Given the description of an element on the screen output the (x, y) to click on. 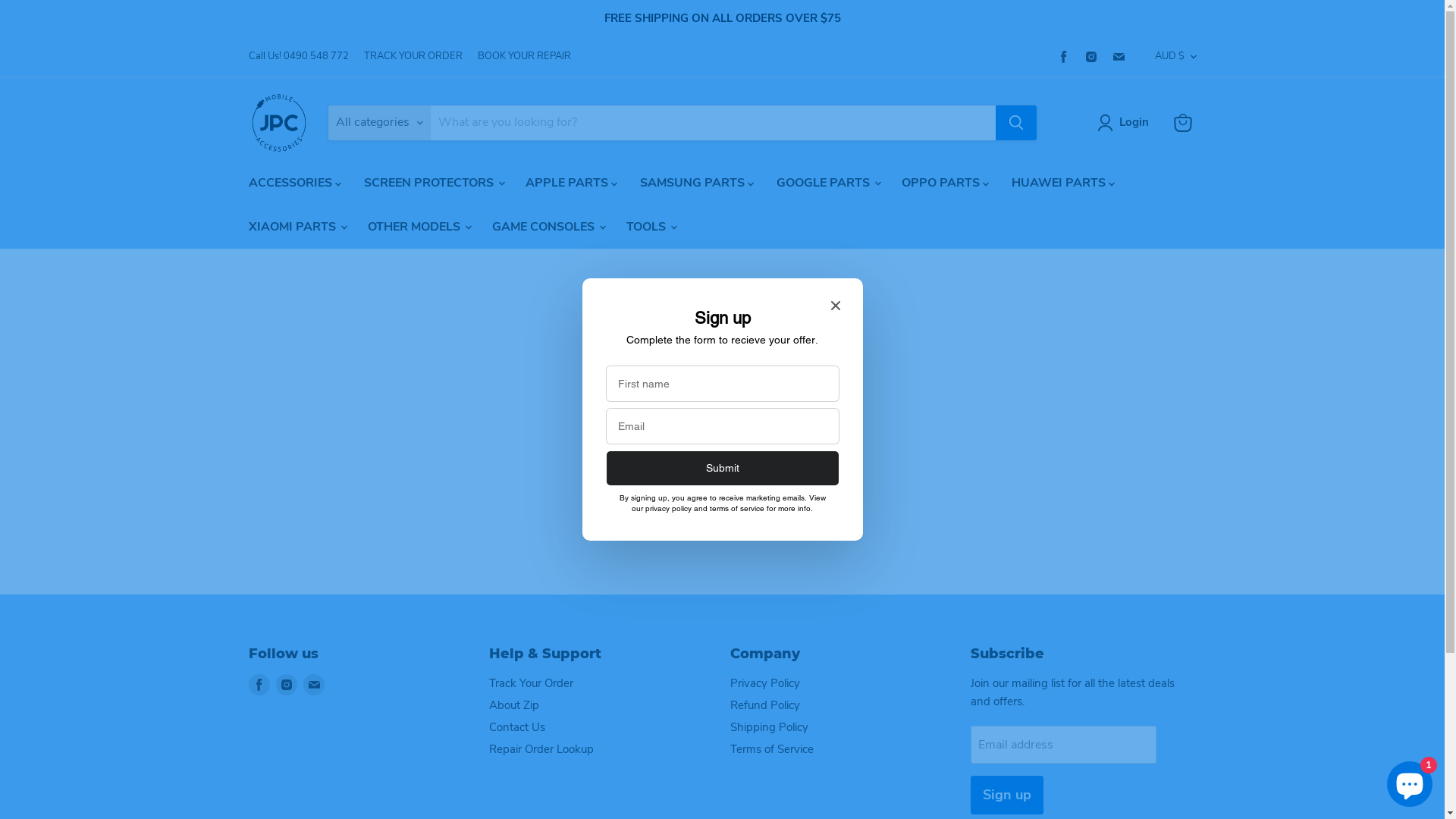
TRACK YOUR ORDER Element type: text (413, 56)
Track Your Order Element type: text (531, 682)
View cart Element type: text (1182, 122)
Sign up Element type: text (1006, 794)
About Zip Element type: text (514, 704)
Continue Shopping Element type: text (721, 417)
Find us on Facebook Element type: text (1062, 55)
Shopify online store chat Element type: hover (1409, 780)
Find us on Email Element type: text (1117, 55)
AUD $ Element type: text (1170, 56)
Shipping Policy Element type: text (768, 726)
Find us on Facebook Element type: text (258, 684)
Refund Policy Element type: text (764, 704)
Terms of Service Element type: text (770, 748)
BOOK YOUR REPAIR Element type: text (524, 56)
Find us on Instagram Element type: text (1090, 55)
Repair Order Lookup Element type: text (541, 748)
Call Us! 0490 548 772 Element type: text (298, 56)
Contact Us Element type: text (517, 726)
Find us on Instagram Element type: text (286, 684)
Login Element type: text (1133, 122)
Privacy Policy Element type: text (764, 682)
Find us on Email Element type: text (313, 684)
